Given the description of an element on the screen output the (x, y) to click on. 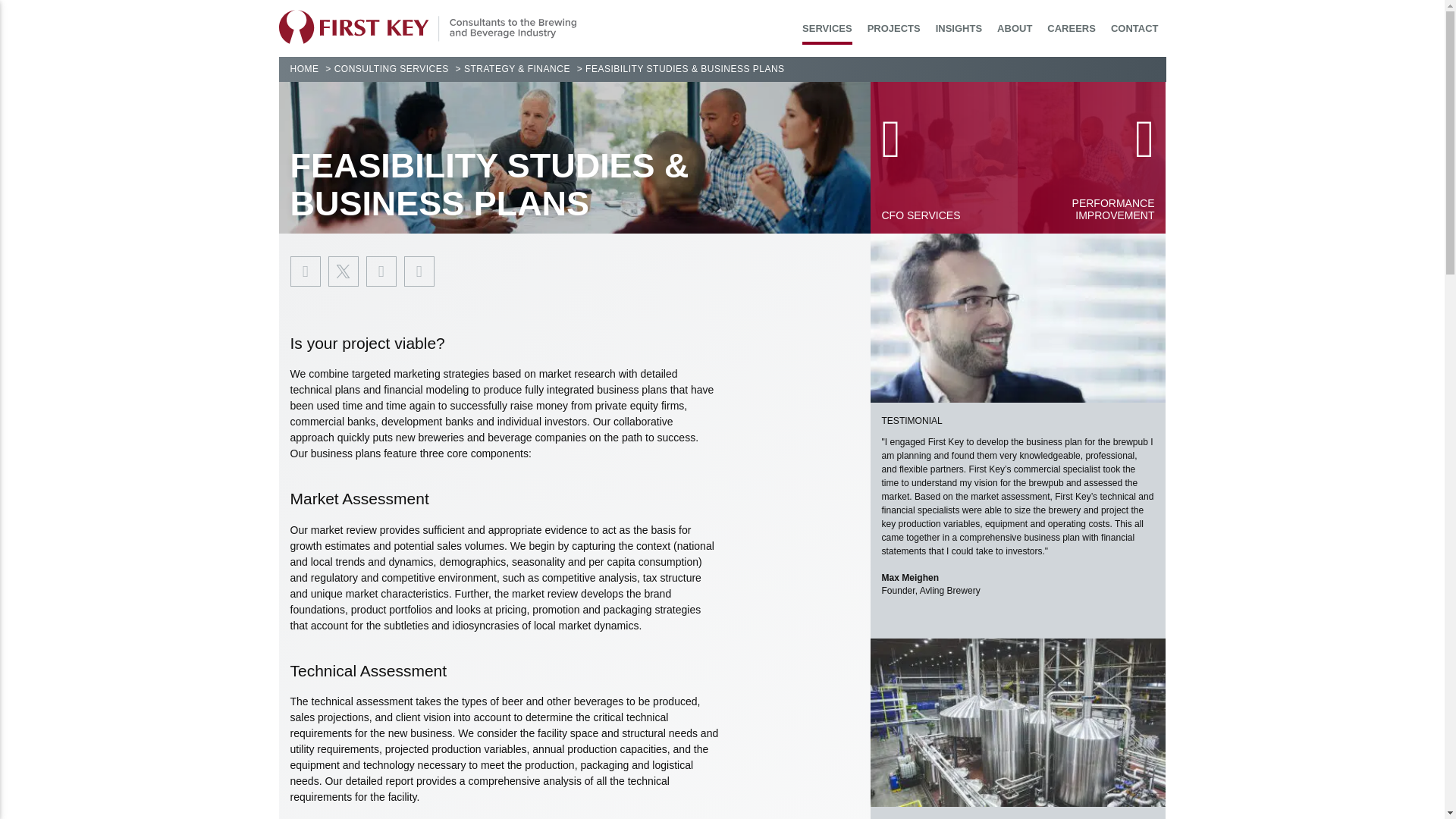
FIRST KEY CONSULTING (427, 26)
First Key Consulting (427, 26)
CFO Services (943, 157)
Performance Improvement (1091, 157)
SERVICES (827, 32)
